Given the description of an element on the screen output the (x, y) to click on. 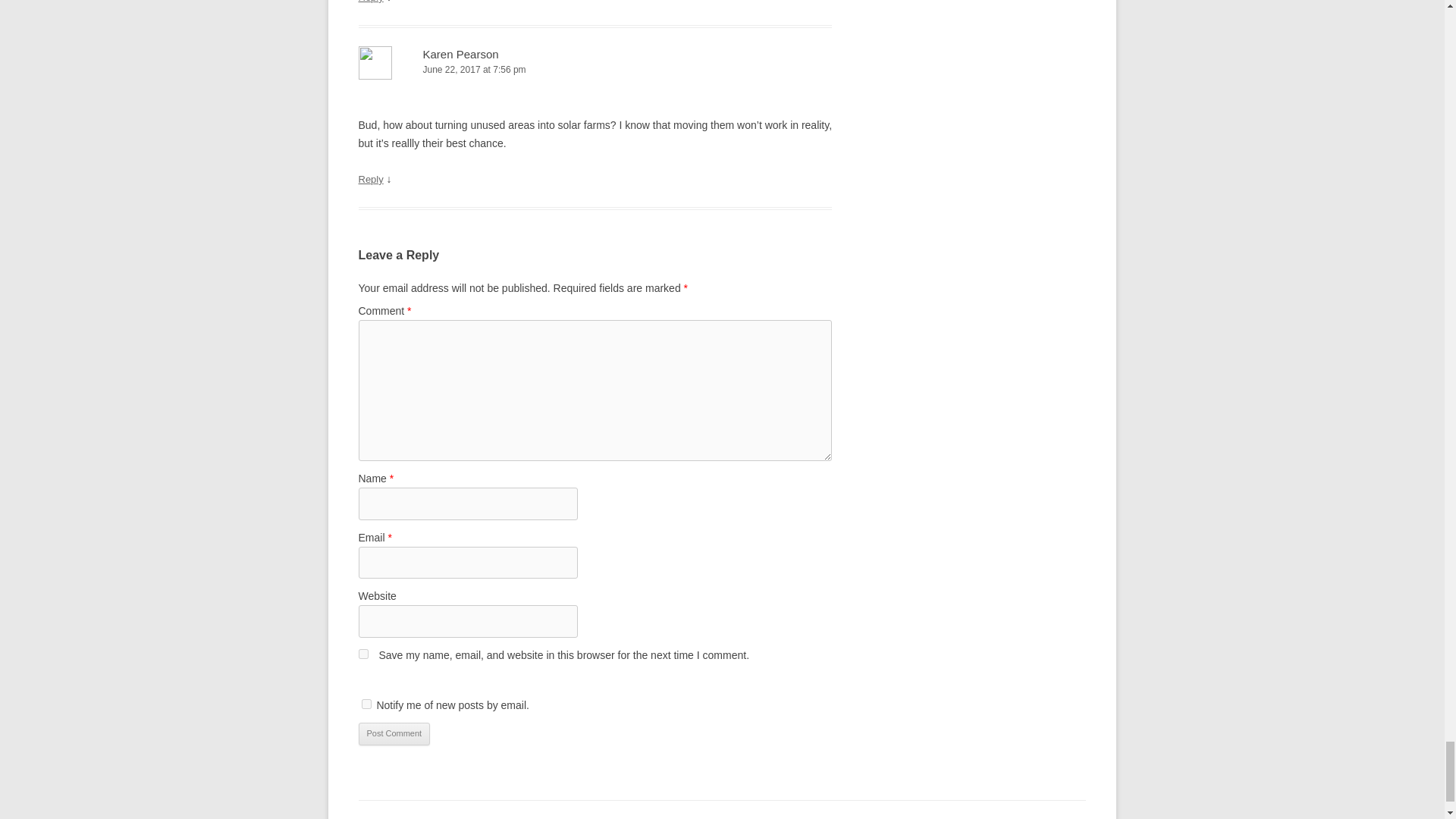
Post Comment (393, 733)
yes (363, 654)
subscribe (366, 704)
